Given the description of an element on the screen output the (x, y) to click on. 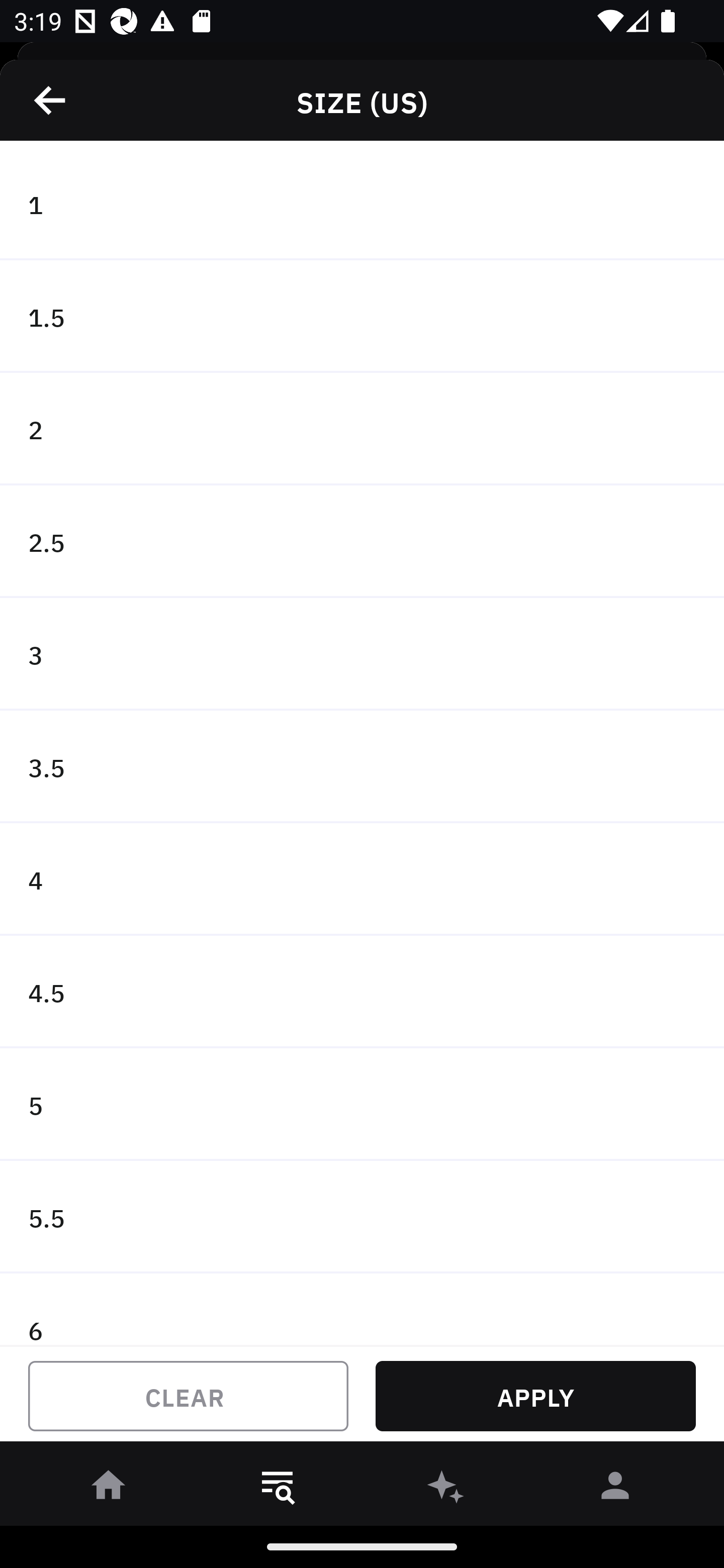
 (50, 100)
1 (362, 203)
1.5 (362, 316)
2 (362, 429)
2.5 (362, 541)
3 (362, 653)
3.5 (362, 766)
4 (362, 879)
4.5 (362, 992)
5 (362, 1104)
5.5 (362, 1216)
6 (362, 1309)
CLEAR  (188, 1396)
APPLY (535, 1396)
󰋜 (108, 1488)
󱎸 (277, 1488)
󰫢 (446, 1488)
󰀄 (615, 1488)
